Given the description of an element on the screen output the (x, y) to click on. 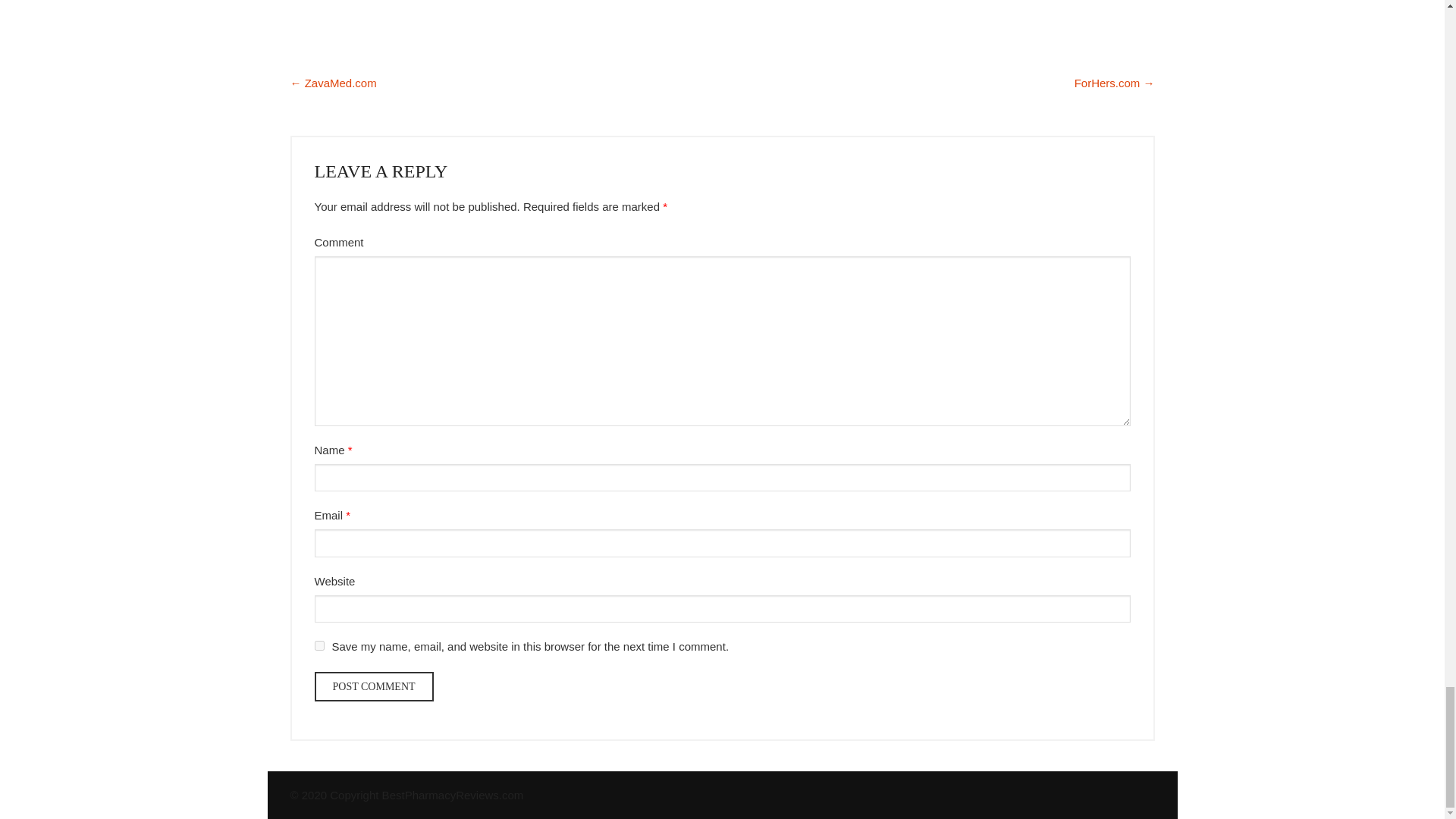
yes (318, 645)
Post Comment (373, 686)
Post Comment (373, 686)
